Given the description of an element on the screen output the (x, y) to click on. 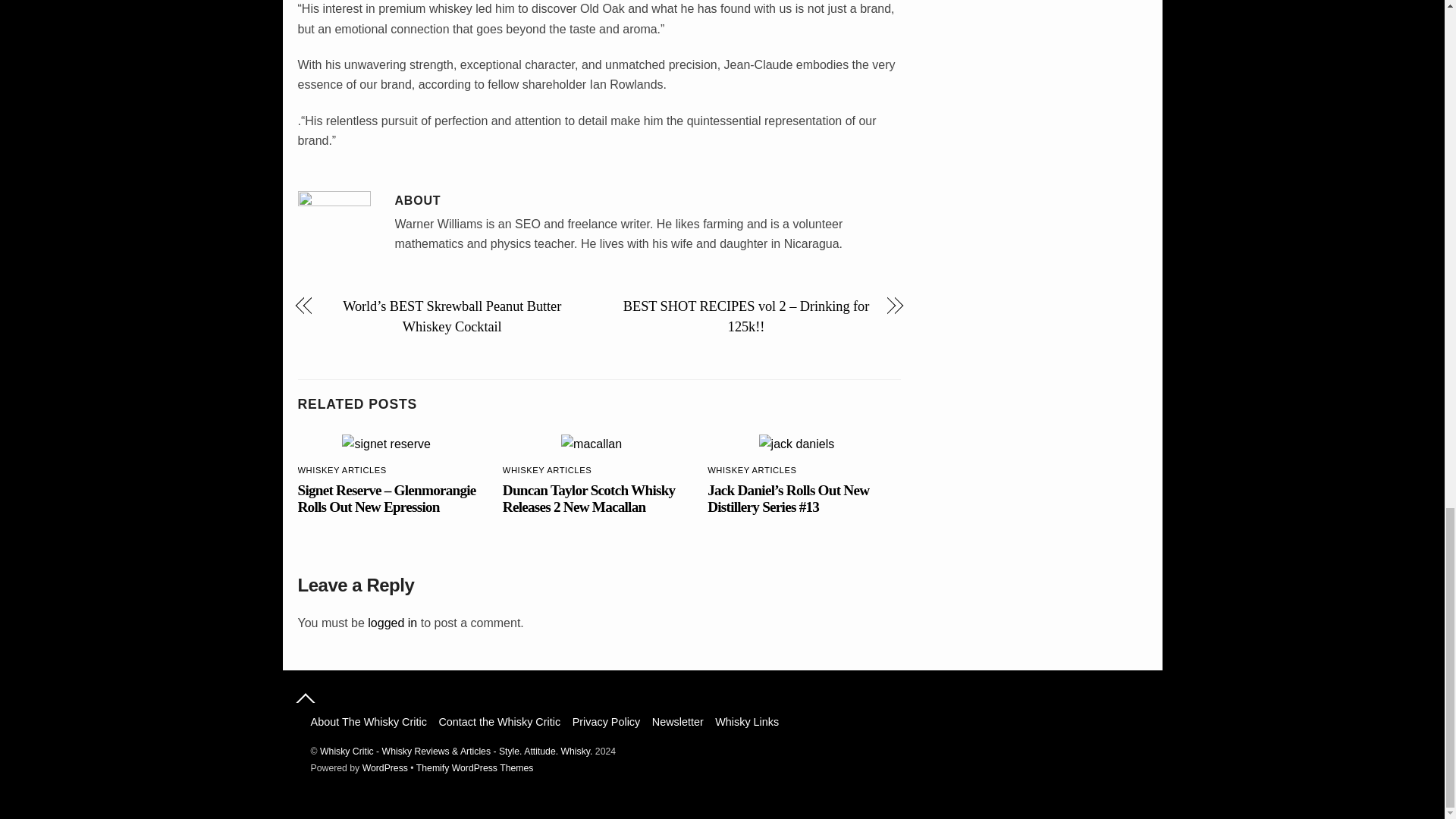
WHISKEY ARTICLES (751, 470)
WHISKEY ARTICLES (341, 470)
macallan2 (590, 444)
Duncan Taylor Scotch Whisky Releases 2 New Macallan (588, 498)
Glenmorangie-Triple-Cask-Reserve (386, 444)
WHISKEY ARTICLES (546, 470)
logged in (392, 622)
jack daniels (796, 444)
